Given the description of an element on the screen output the (x, y) to click on. 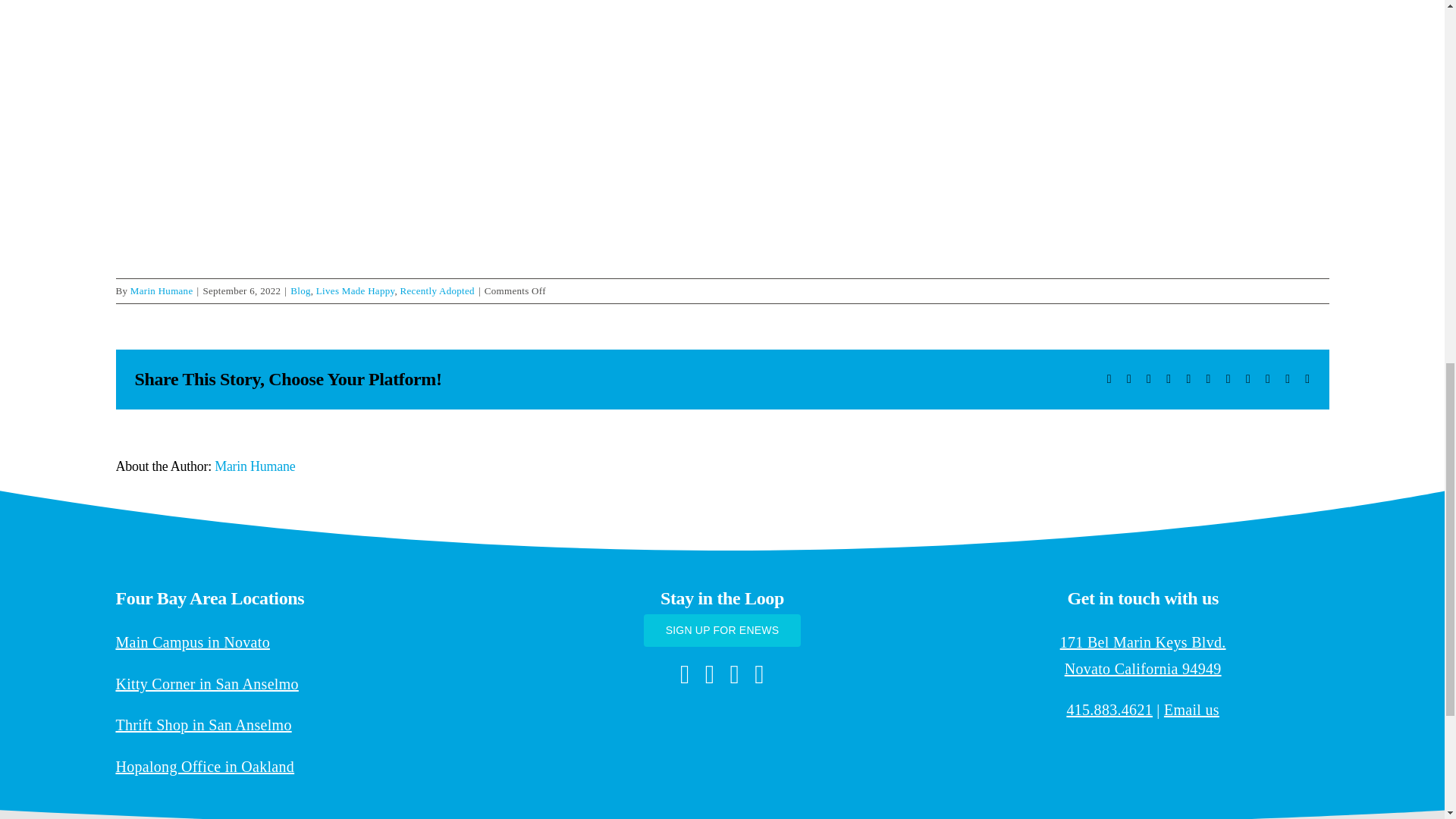
Posts by Marin Humane (162, 290)
